Given the description of an element on the screen output the (x, y) to click on. 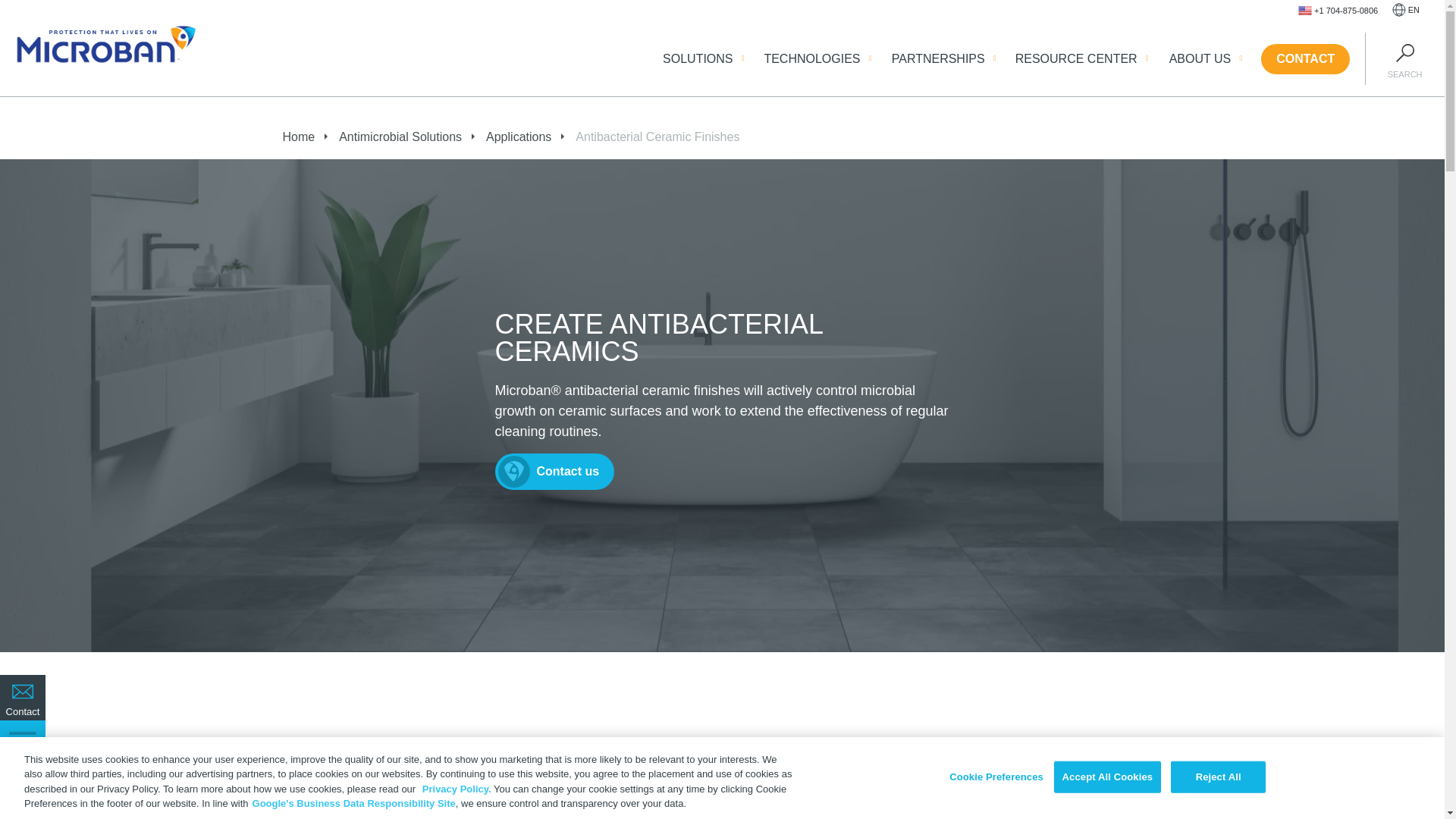
SOLUTIONS (697, 58)
EN (1406, 10)
PARTNERSHIPS (938, 58)
TECHNOLOGIES (811, 58)
